Given the description of an element on the screen output the (x, y) to click on. 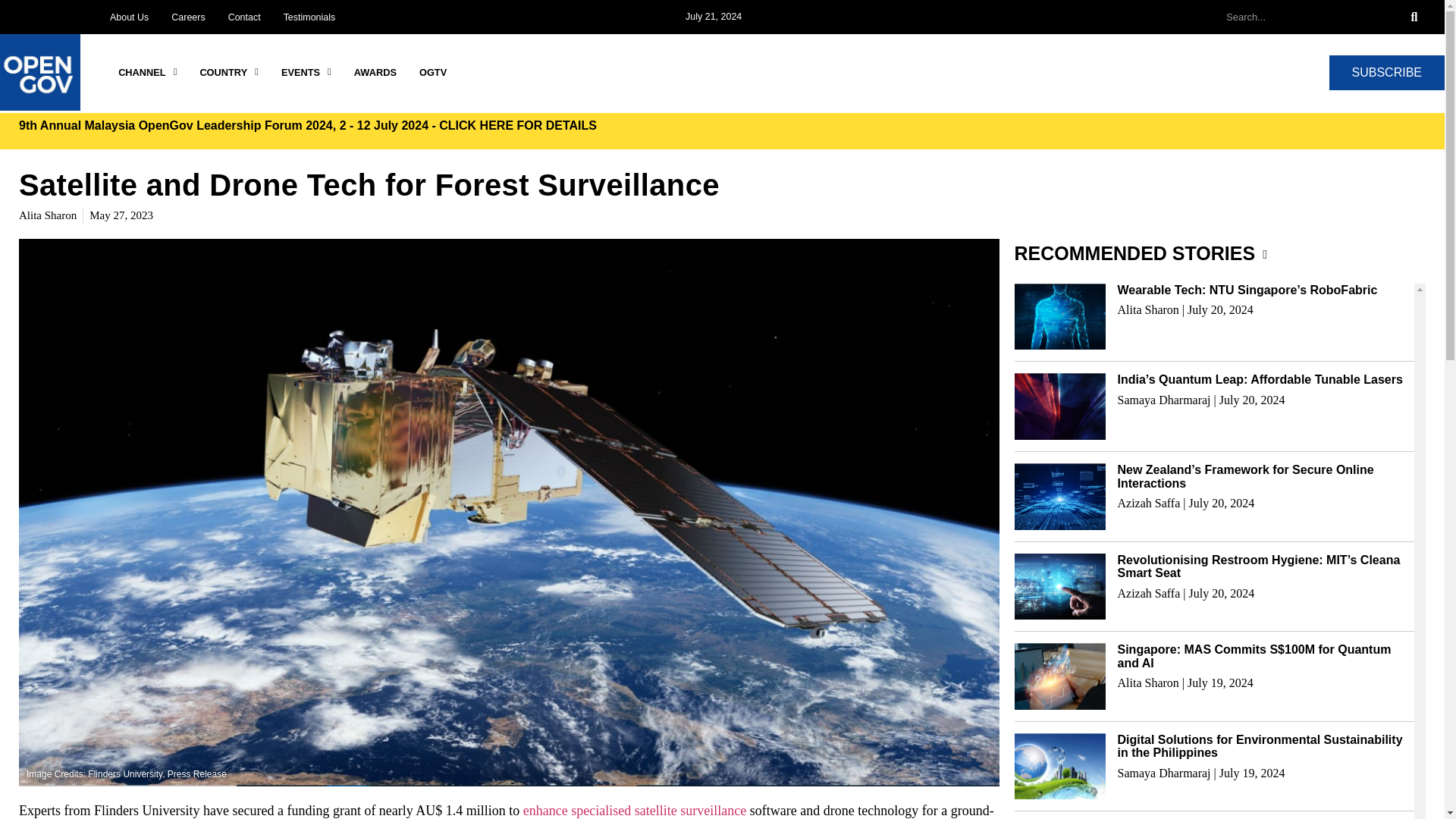
Contact (244, 16)
COUNTRY (229, 72)
Testimonials (309, 16)
CHANNEL (146, 72)
Careers (187, 16)
About Us (129, 16)
EVENTS (306, 72)
